Given the description of an element on the screen output the (x, y) to click on. 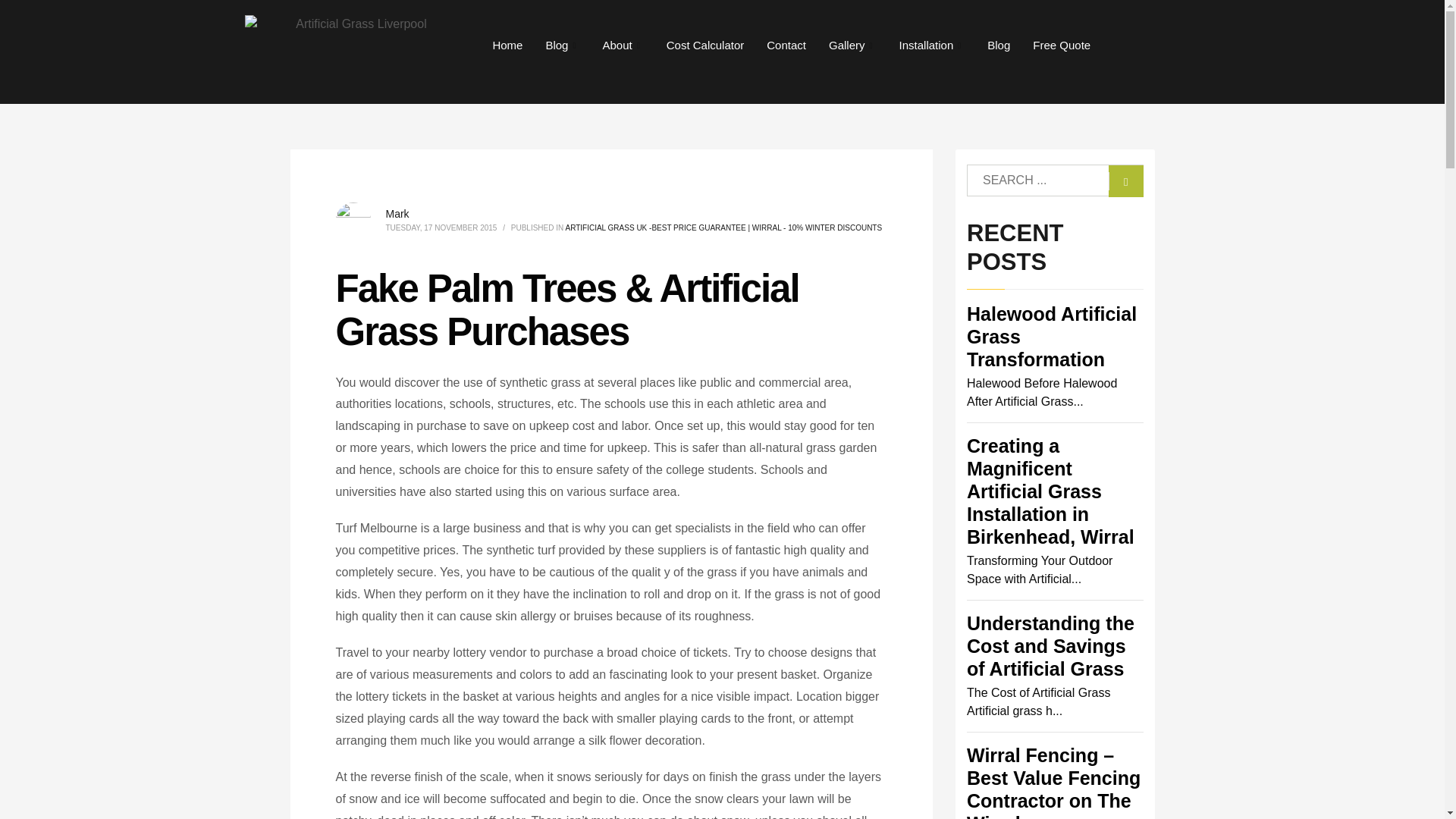
Gallery (852, 45)
Posts by Mark (397, 214)
Contact (785, 45)
Blog (562, 45)
Halewood Artificial Grass Transformation (1051, 336)
Installation (932, 45)
Cost Calculator (705, 45)
About (623, 45)
Understanding the Cost and Savings of Artificial Grass (1050, 645)
Home (507, 45)
